Given the description of an element on the screen output the (x, y) to click on. 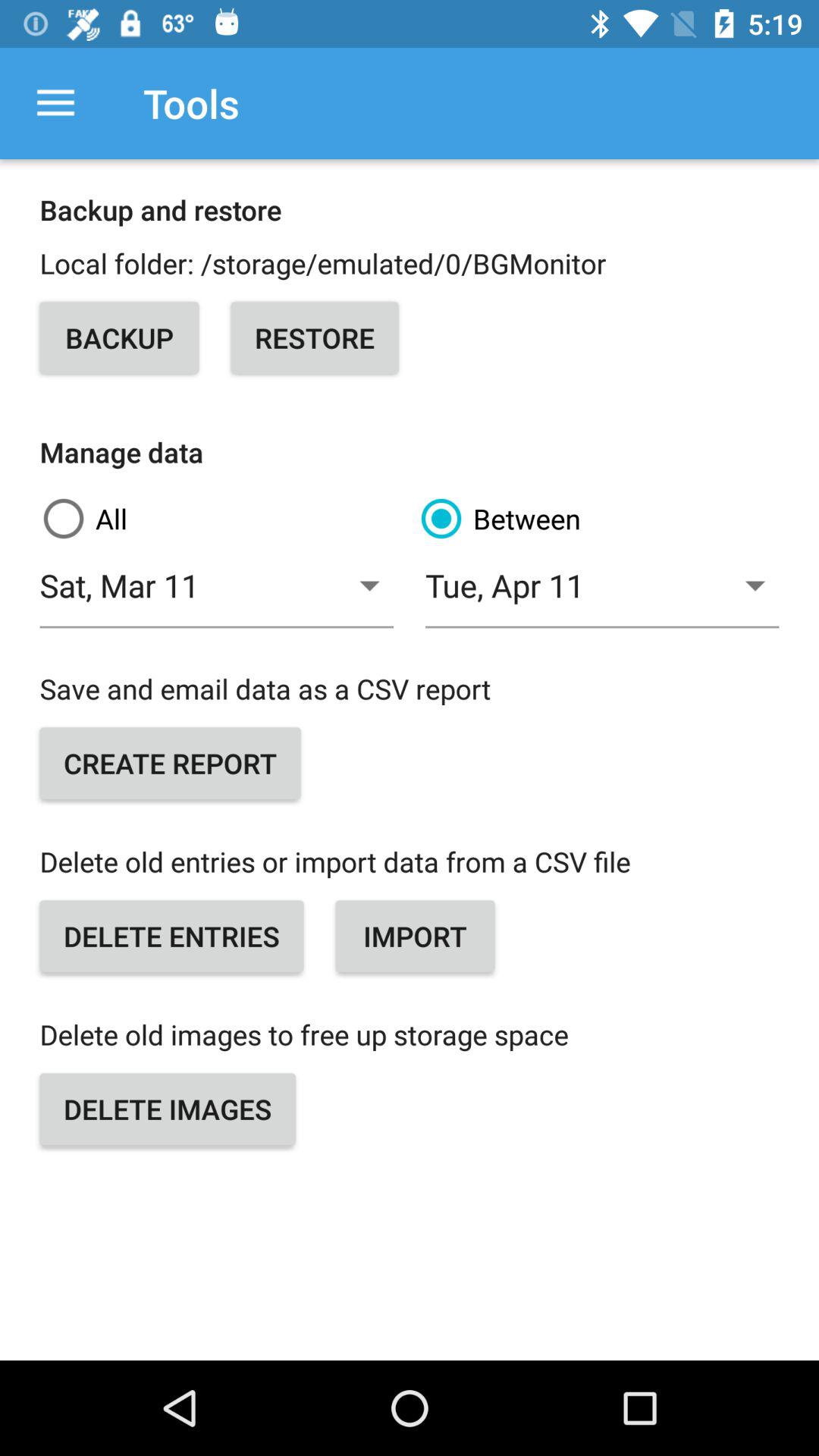
tap item above backup and restore item (55, 103)
